Given the description of an element on the screen output the (x, y) to click on. 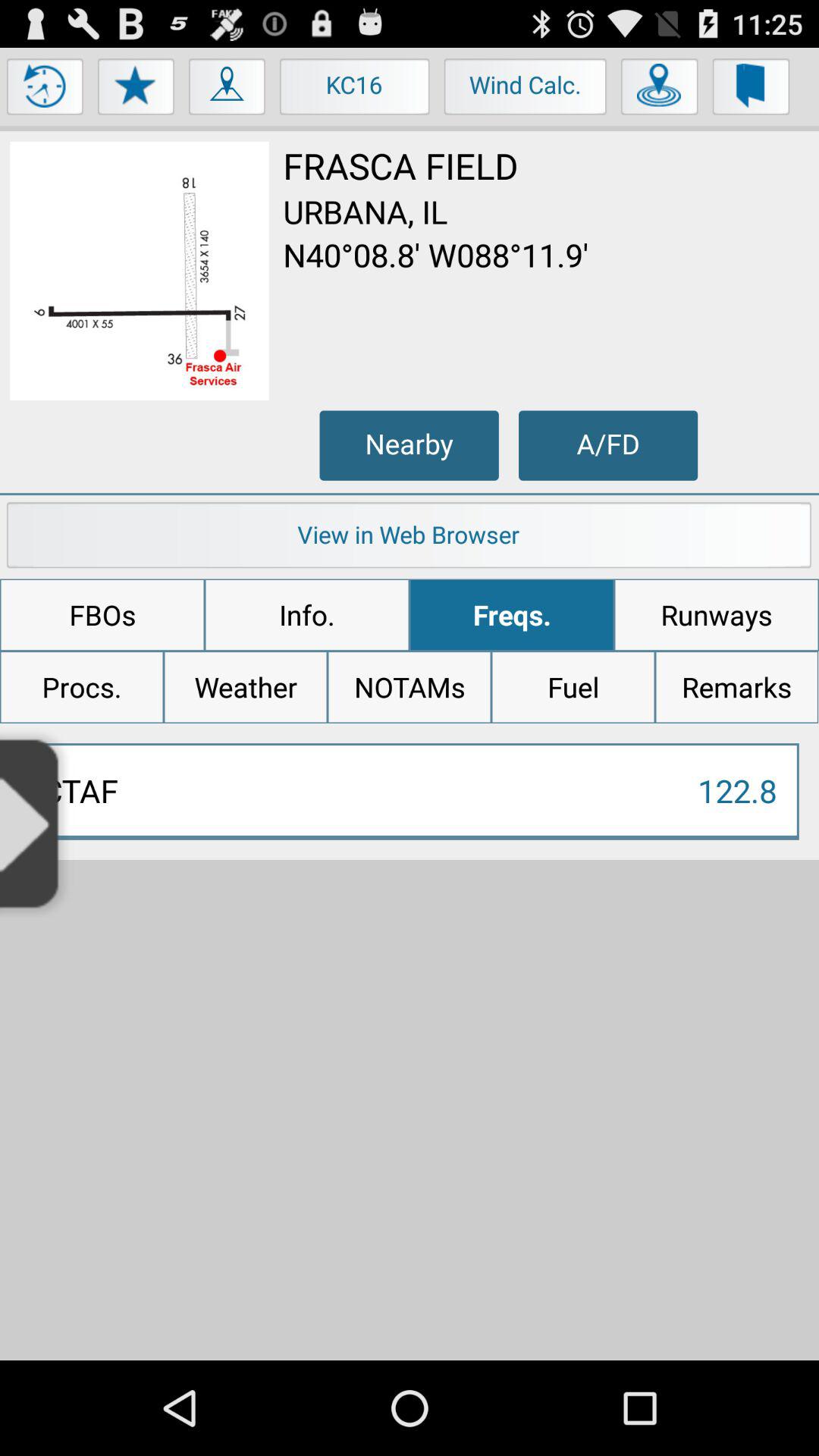
jump to a/fd button (607, 445)
